Given the description of an element on the screen output the (x, y) to click on. 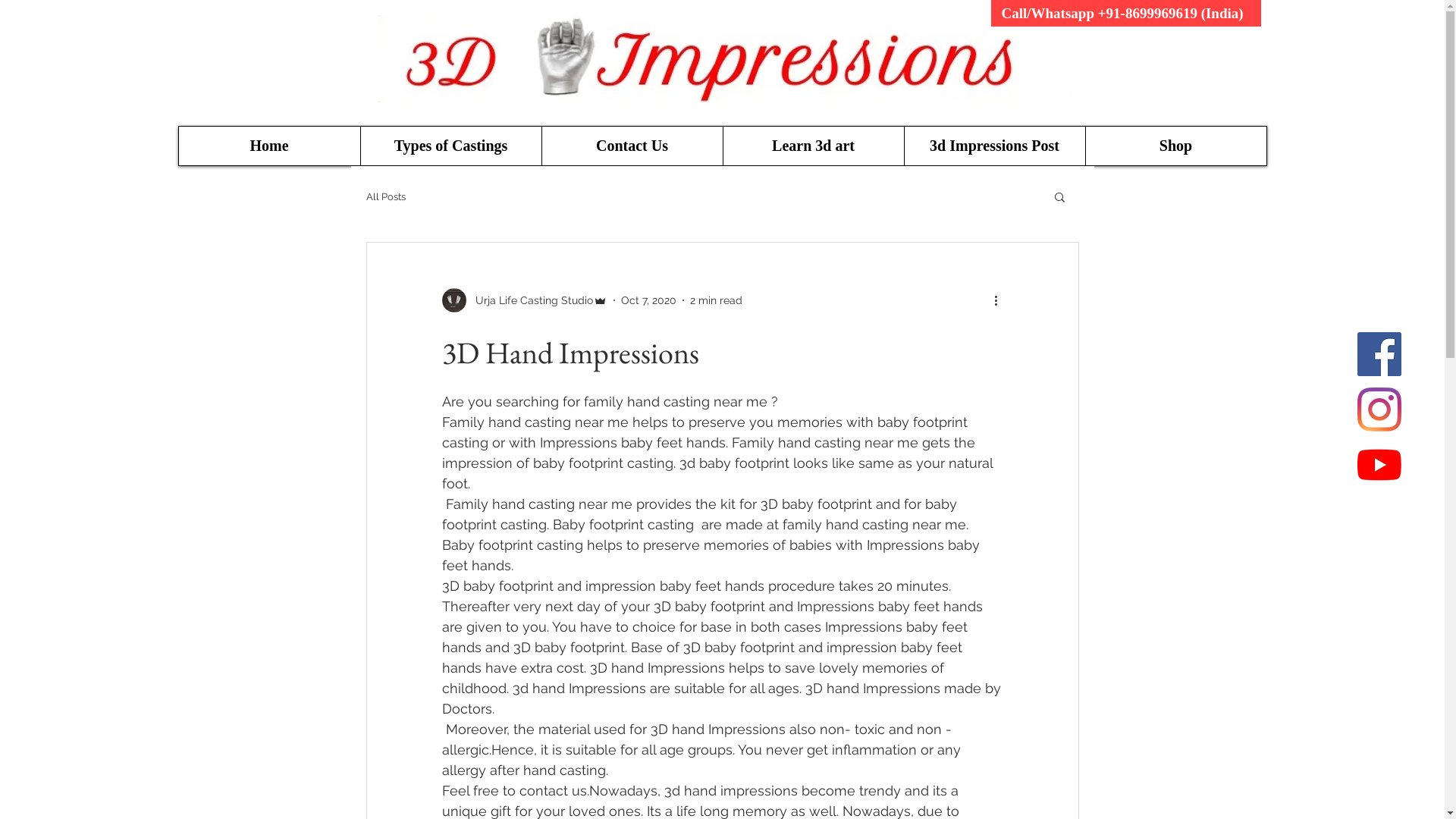
diwali gifts online Element type: hover (724, 58)
Shop Element type: text (1174, 145)
Learn 3d art Element type: text (812, 145)
Urja Life Casting Studio Element type: text (523, 300)
Types of Castings Element type: text (449, 145)
3d Impressions Post Element type: text (994, 145)
All Posts Element type: text (384, 196)
Contact Us Element type: text (631, 145)
Home Element type: text (269, 145)
